Given the description of an element on the screen output the (x, y) to click on. 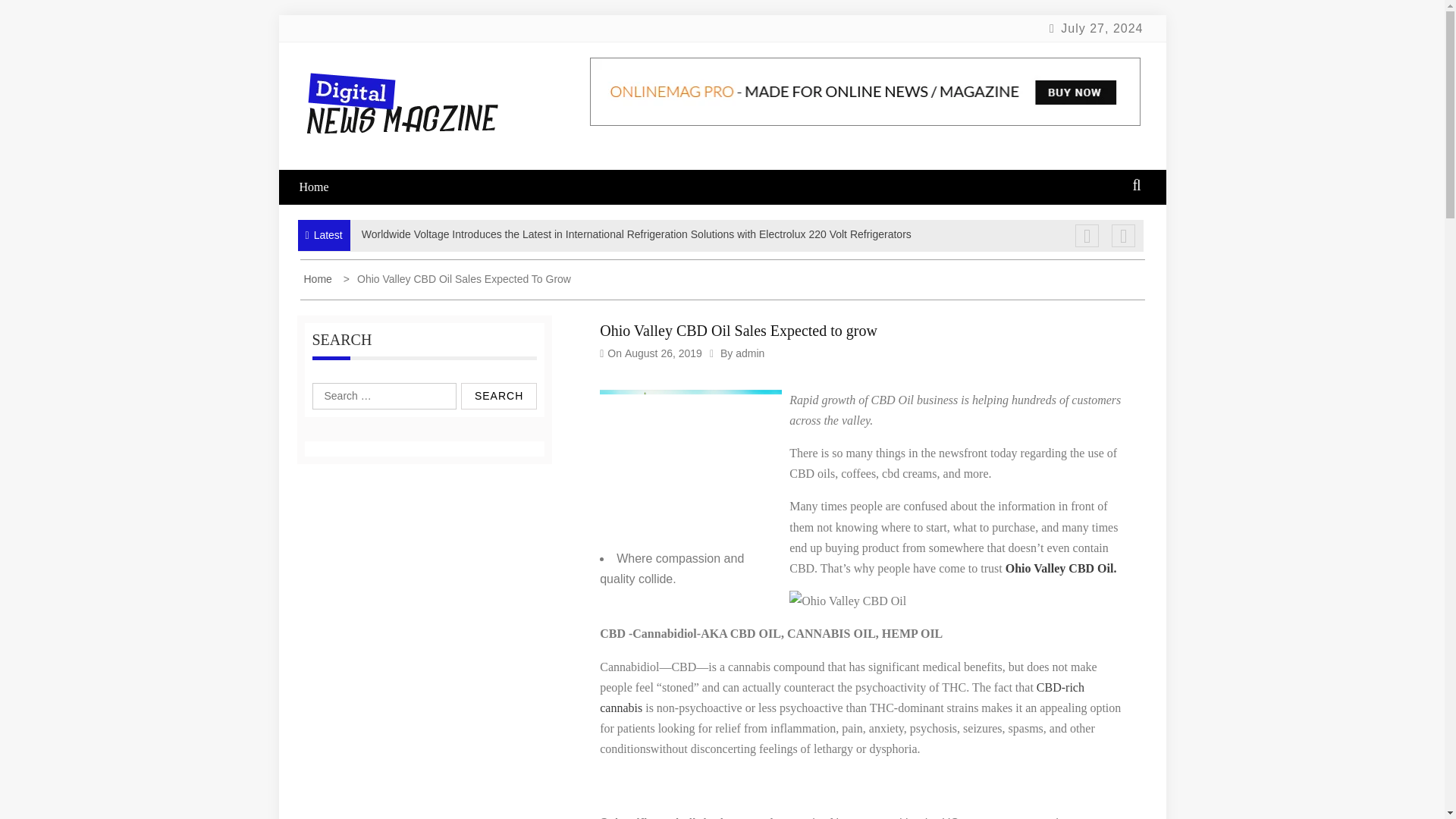
Digital News Magazine (394, 187)
admin (749, 353)
Home (323, 186)
Ohio Valley CBD Oil (847, 600)
Search (499, 396)
Search (499, 396)
Search (499, 396)
August 26, 2019 (662, 353)
Ohio Valley CBD Oil. (1061, 567)
CBD-rich cannabis (841, 697)
Home (318, 278)
